Given the description of an element on the screen output the (x, y) to click on. 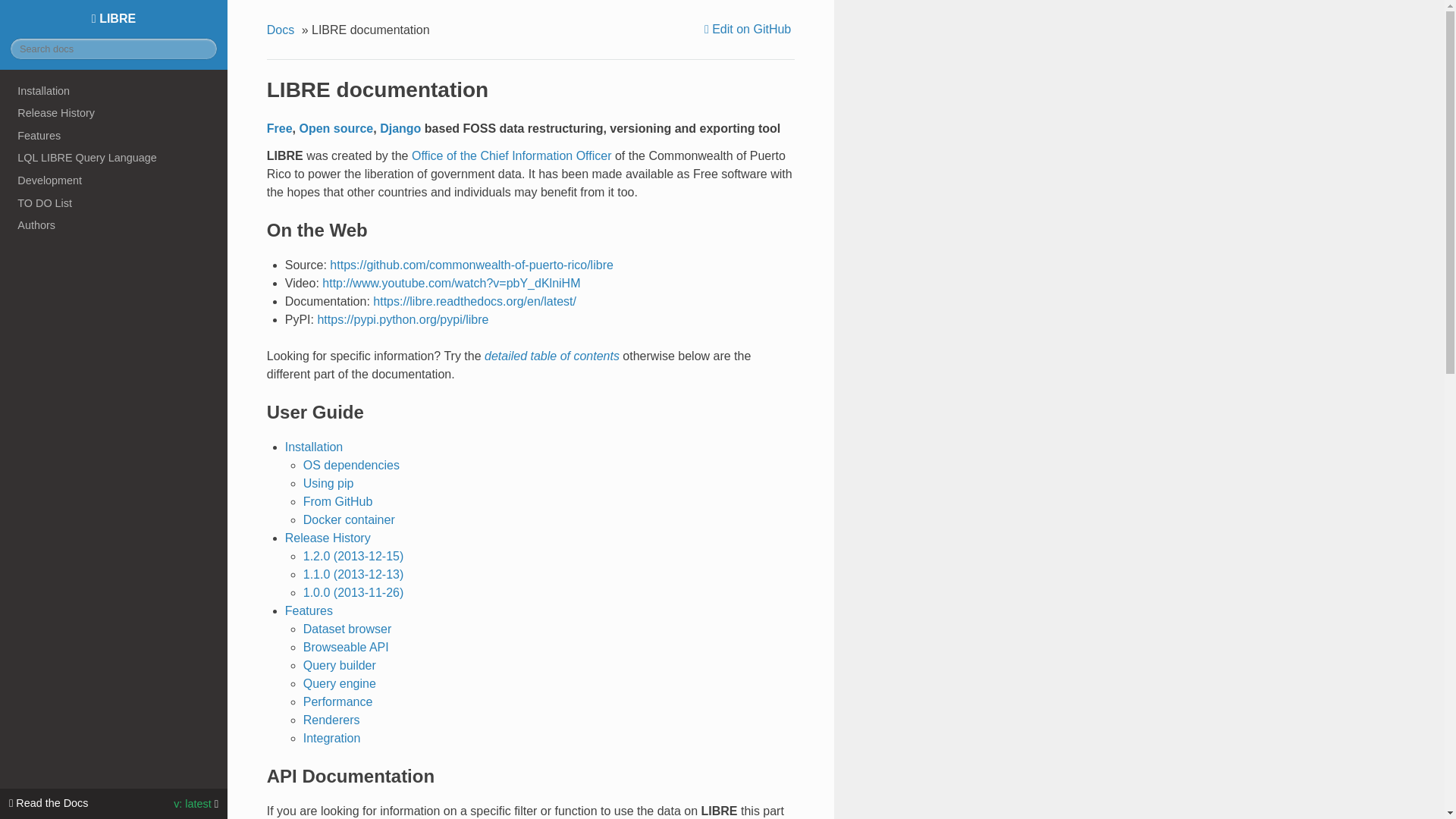
Features (113, 135)
Release History (113, 112)
TO DO List (113, 202)
Installation (113, 90)
LIBRE (113, 18)
Development (113, 179)
LQL LIBRE Query Language (113, 158)
